Given the description of an element on the screen output the (x, y) to click on. 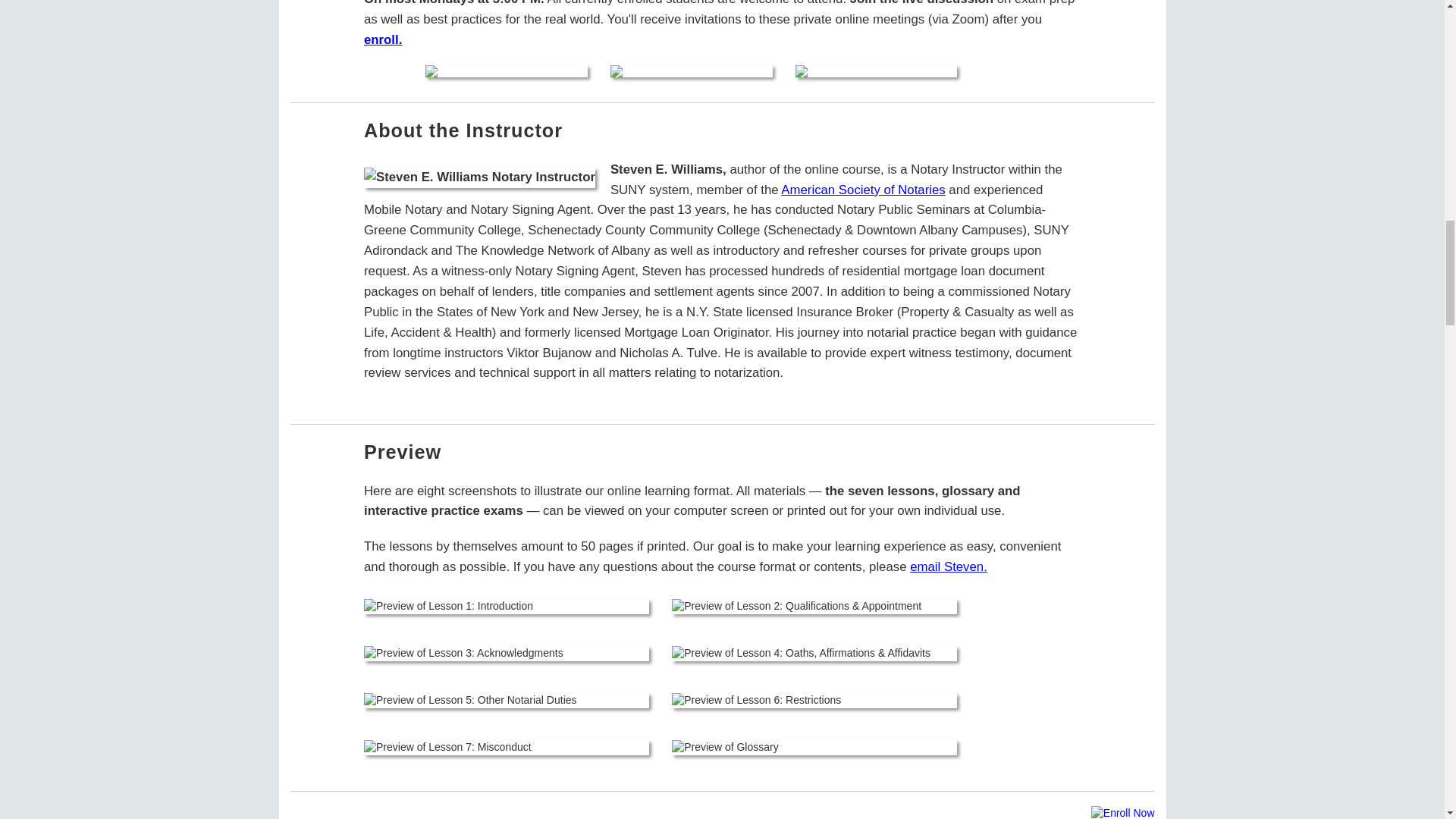
American Society of Notaries (862, 189)
enroll. (382, 39)
email Steven. (948, 566)
